Given the description of an element on the screen output the (x, y) to click on. 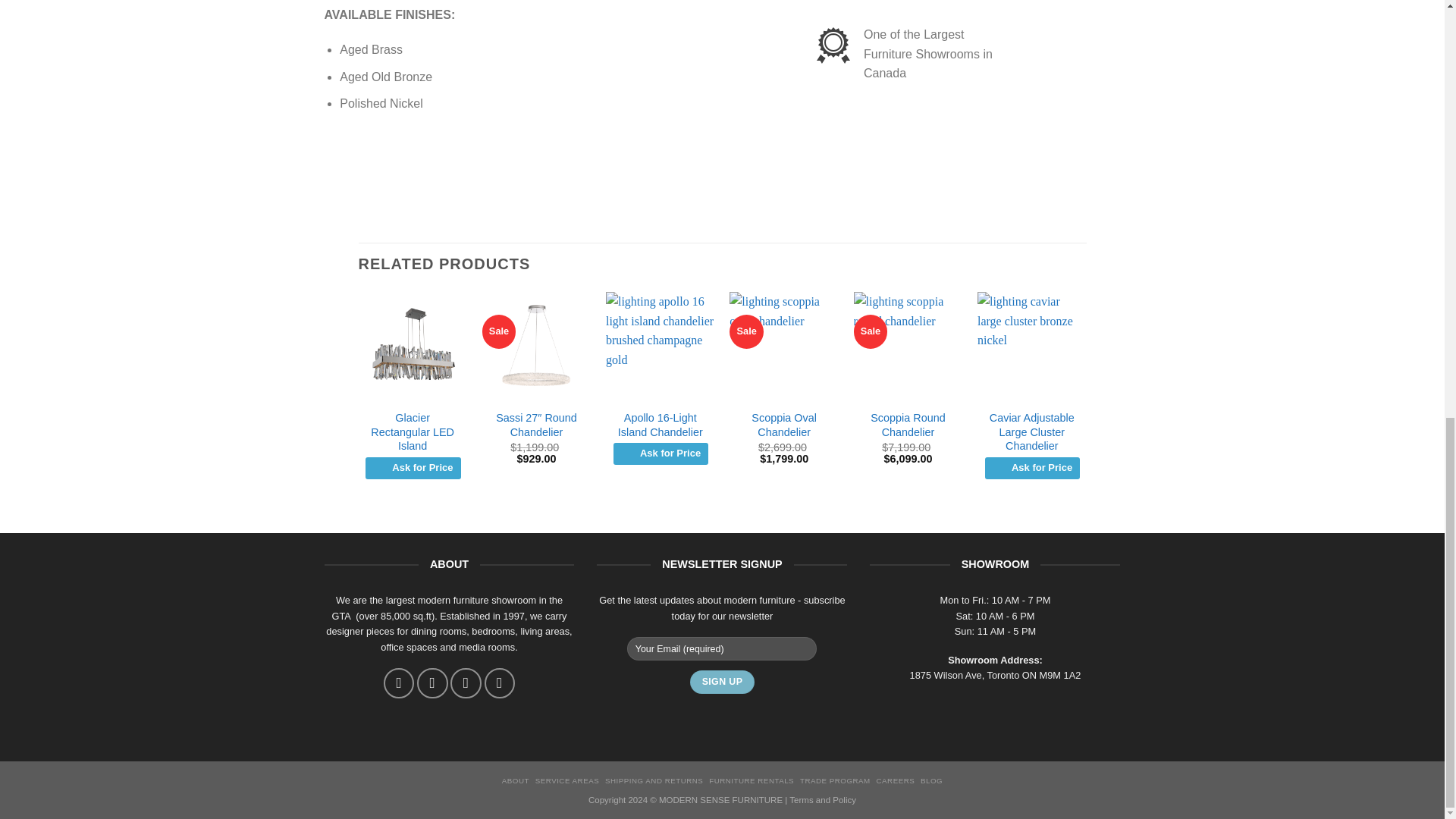
Follow on Facebook (398, 683)
Follow on Pinterest (499, 683)
Follow on Instagram (431, 683)
Sign Up (722, 682)
Follow on TikTok (464, 683)
